Given the description of an element on the screen output the (x, y) to click on. 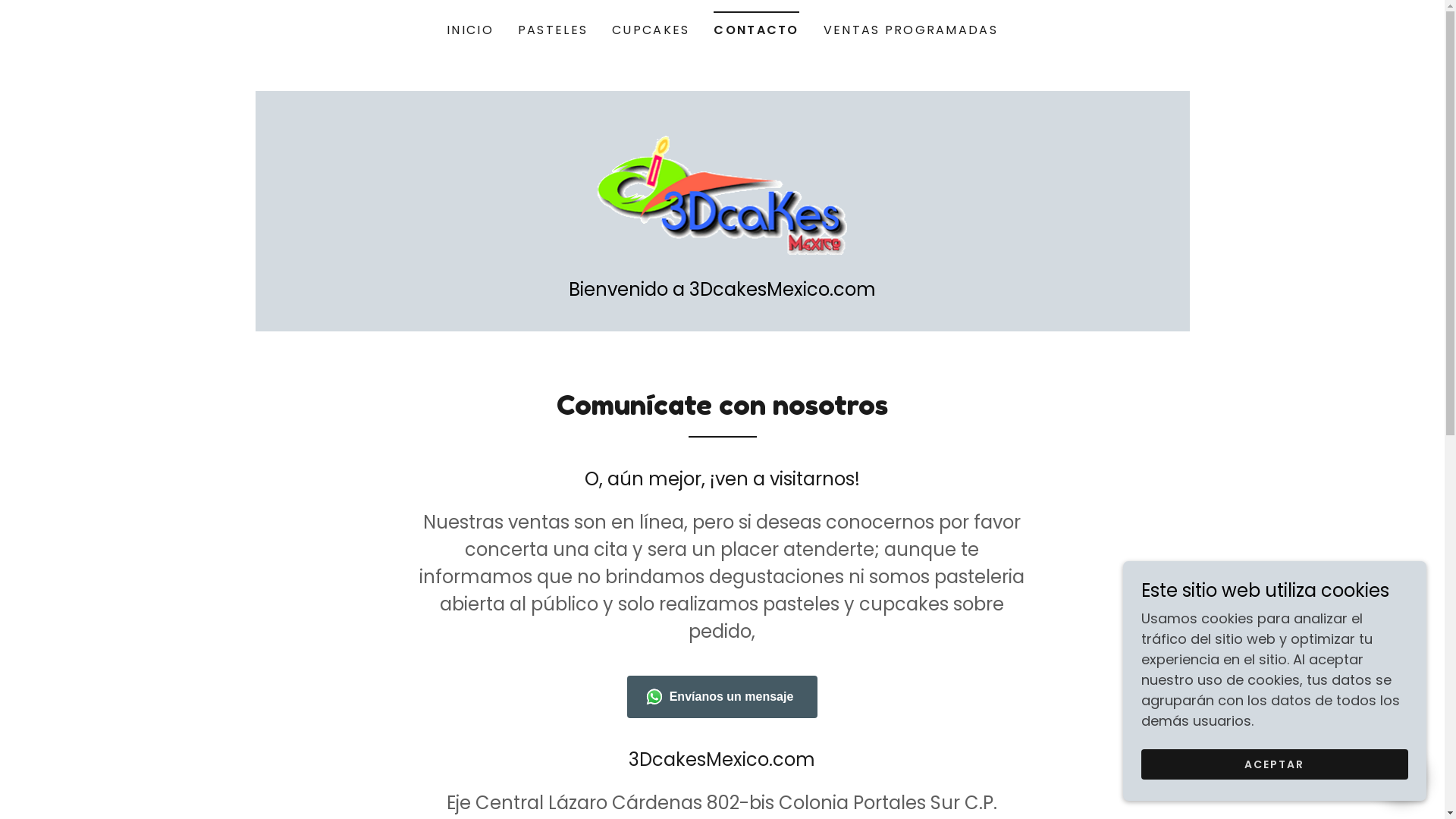
INICIO Element type: text (470, 29)
CONTACTO Element type: text (755, 25)
CUPCAKES Element type: text (650, 29)
VENTAS PROGRAMADAS Element type: text (910, 29)
ACEPTAR Element type: text (1274, 764)
Pasteles de Fondant Element type: hover (722, 191)
PASTELES Element type: text (552, 29)
